Given the description of an element on the screen output the (x, y) to click on. 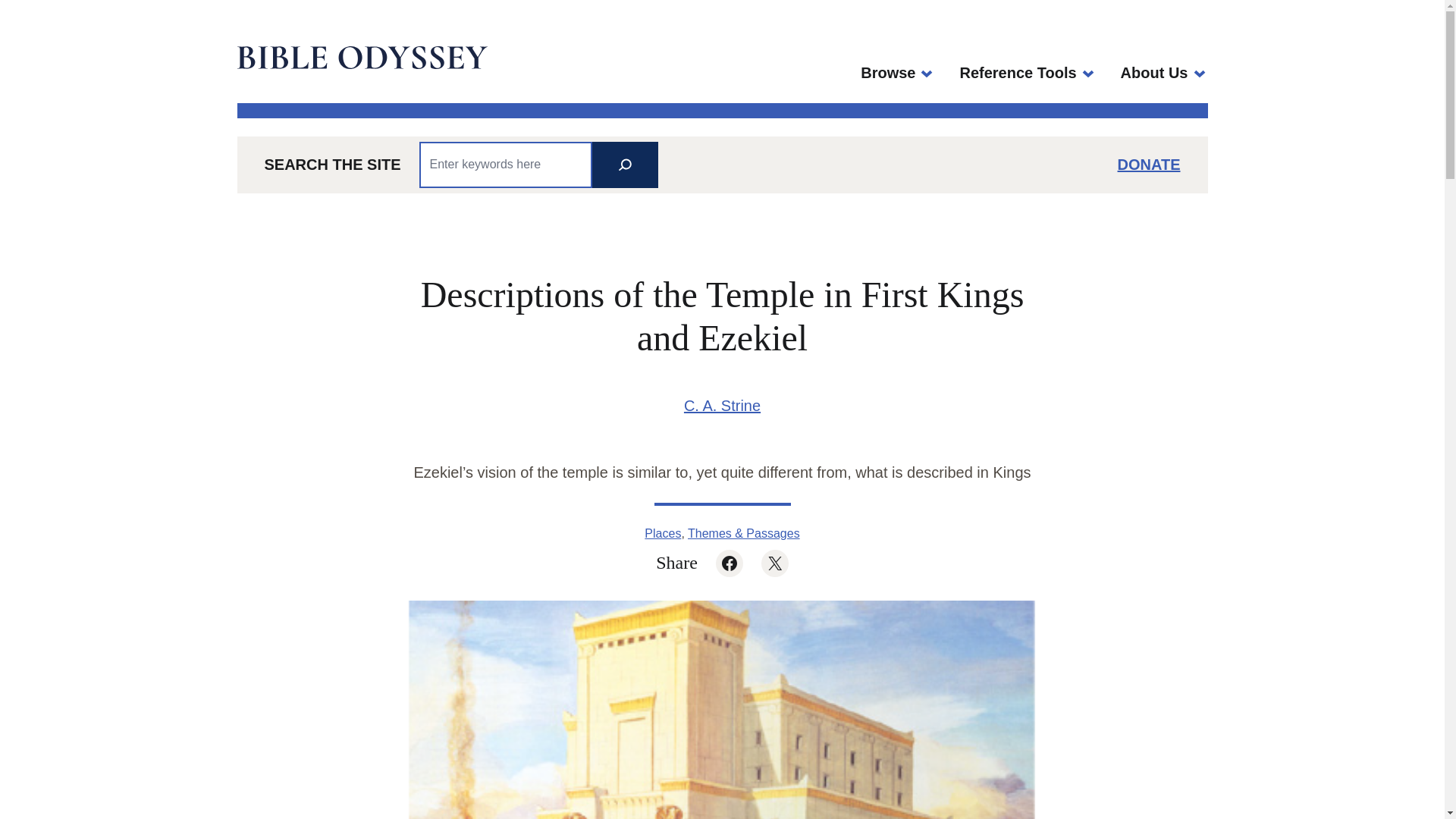
 - opens in a new window (775, 563)
 - opens in a new window (1154, 72)
About Us (1154, 72)
Share on Twitter (775, 563)
C. A. Strine (722, 405)
Places (663, 533)
 - opens in a new window (887, 72)
Reference Tools (1017, 72)
Browse (887, 72)
 - opens in a new window (729, 563)
Share on Facebook (729, 563)
DONATE (1149, 164)
 - opens in a new window (1149, 164)
